Given the description of an element on the screen output the (x, y) to click on. 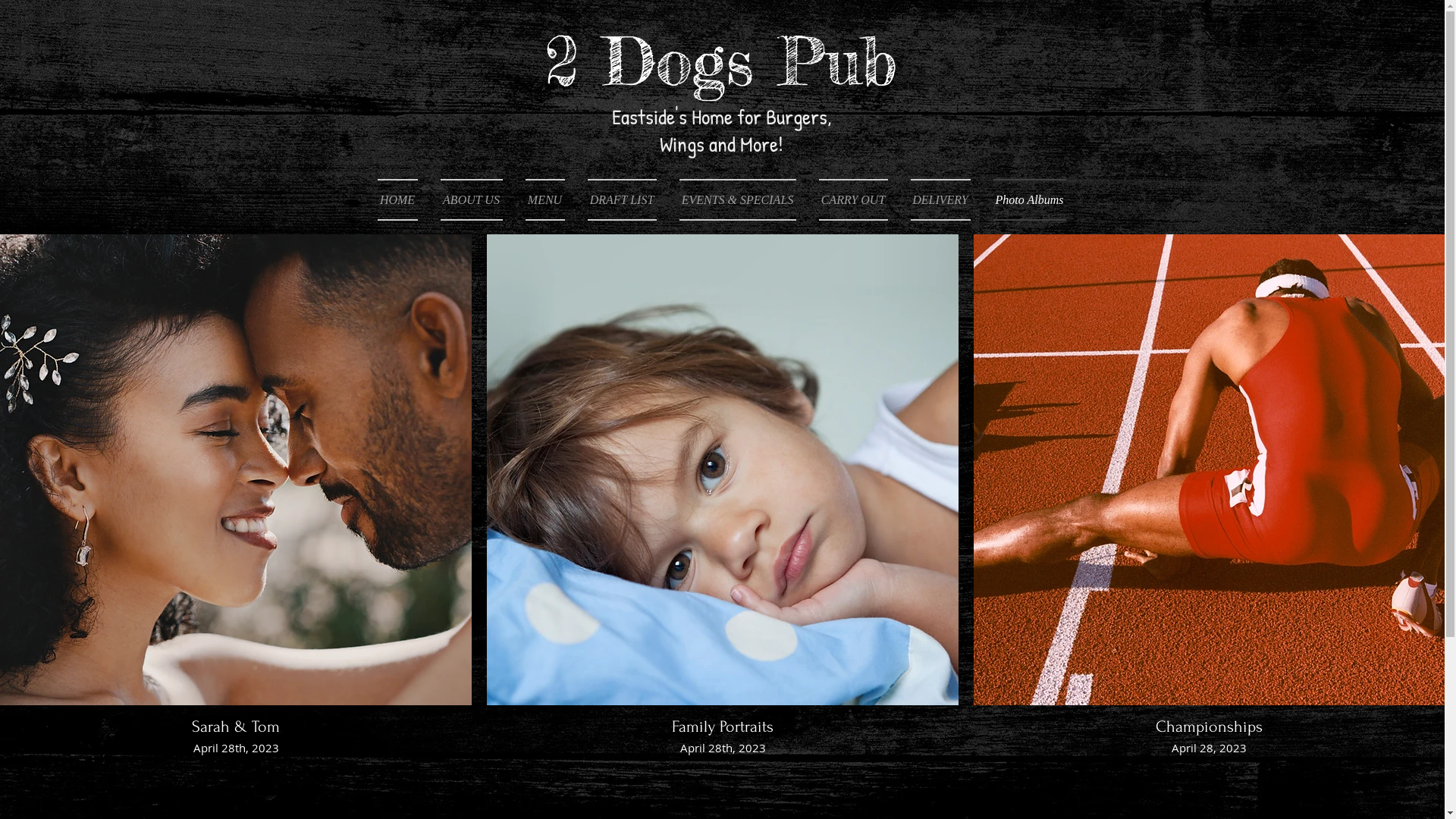
HOME Element type: text (403, 199)
CARRY OUT Element type: text (852, 199)
DRAFT LIST Element type: text (622, 199)
2 Dogs Pub Element type: text (720, 60)
ABOUT US Element type: text (471, 199)
Photo Albums Element type: text (1023, 199)
EVENTS & SPECIALS Element type: text (736, 199)
DELIVERY Element type: text (940, 199)
MENU Element type: text (545, 199)
